Given the description of an element on the screen output the (x, y) to click on. 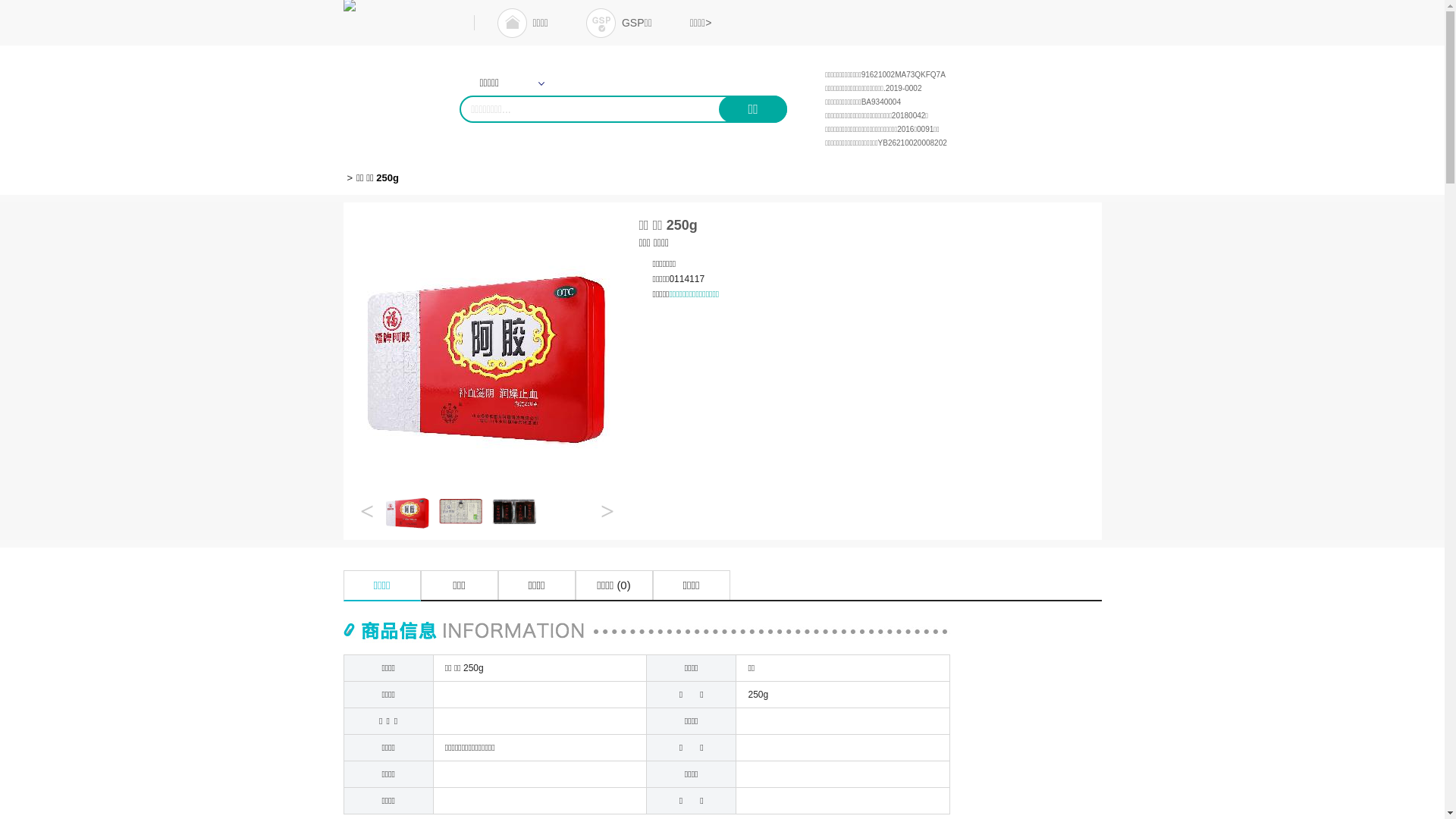
< Element type: text (366, 511)
> Element type: text (606, 511)
